Given the description of an element on the screen output the (x, y) to click on. 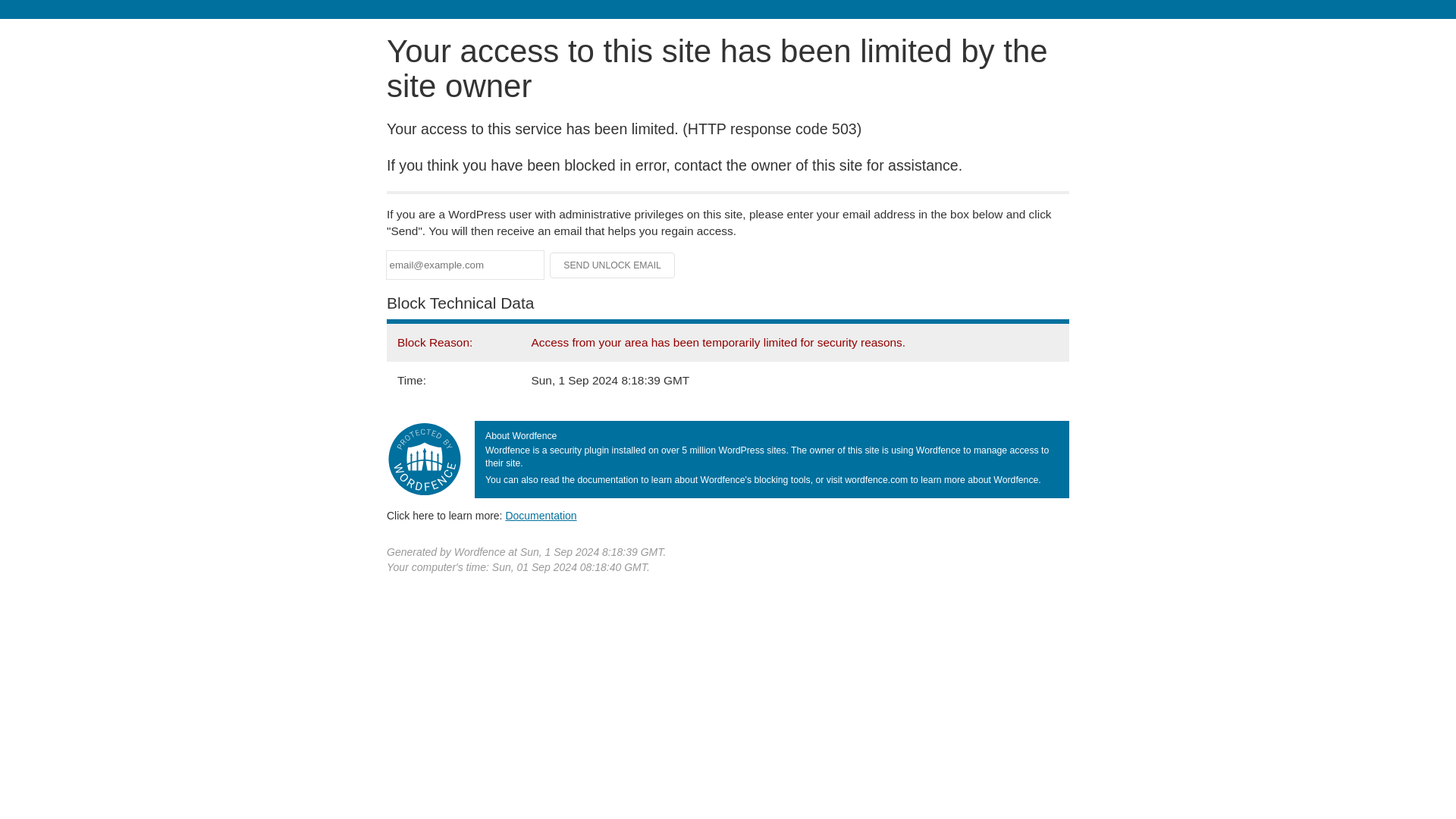
Send Unlock Email (612, 265)
Send Unlock Email (612, 265)
Documentation (540, 515)
